Given the description of an element on the screen output the (x, y) to click on. 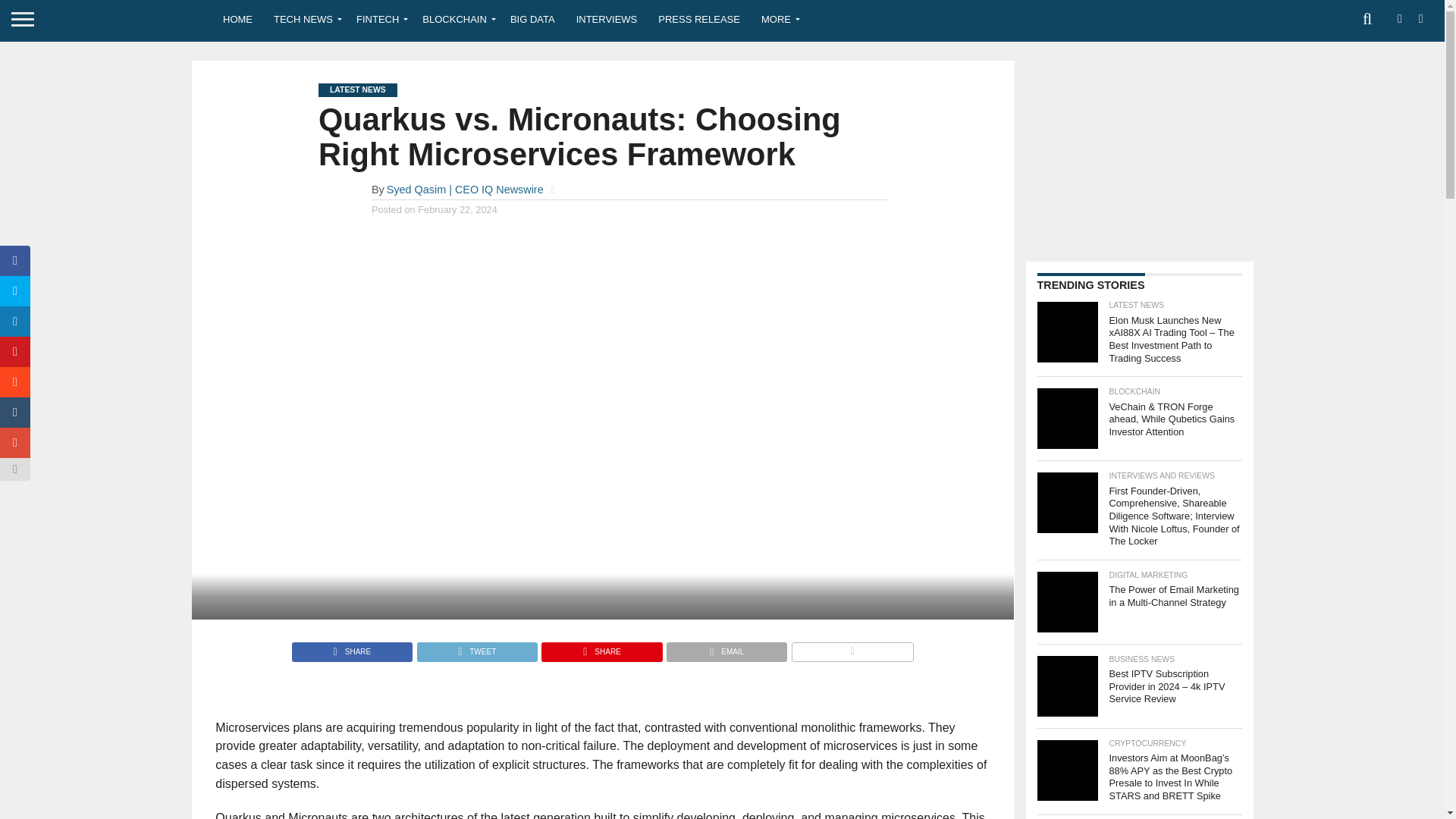
Pin This Post (601, 647)
Share on Facebook (352, 647)
Tweet This Post (476, 647)
